Given the description of an element on the screen output the (x, y) to click on. 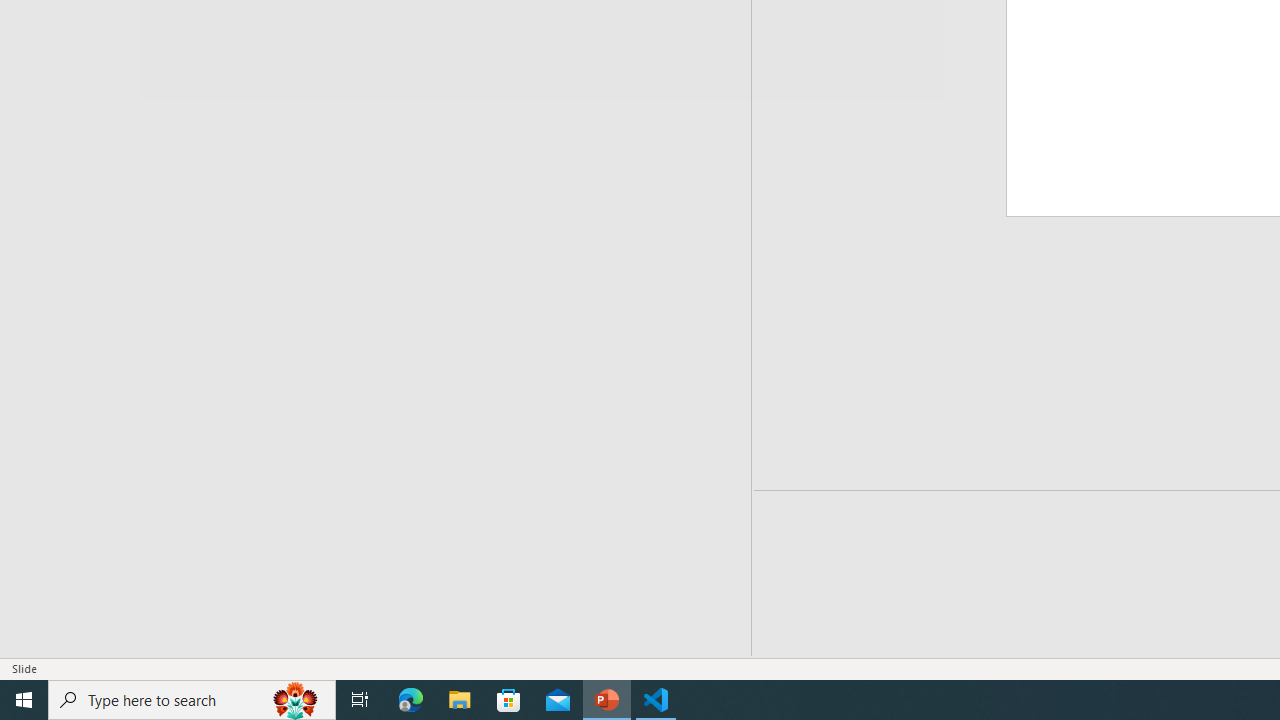
Microsoft Edge (411, 699)
